Given the description of an element on the screen output the (x, y) to click on. 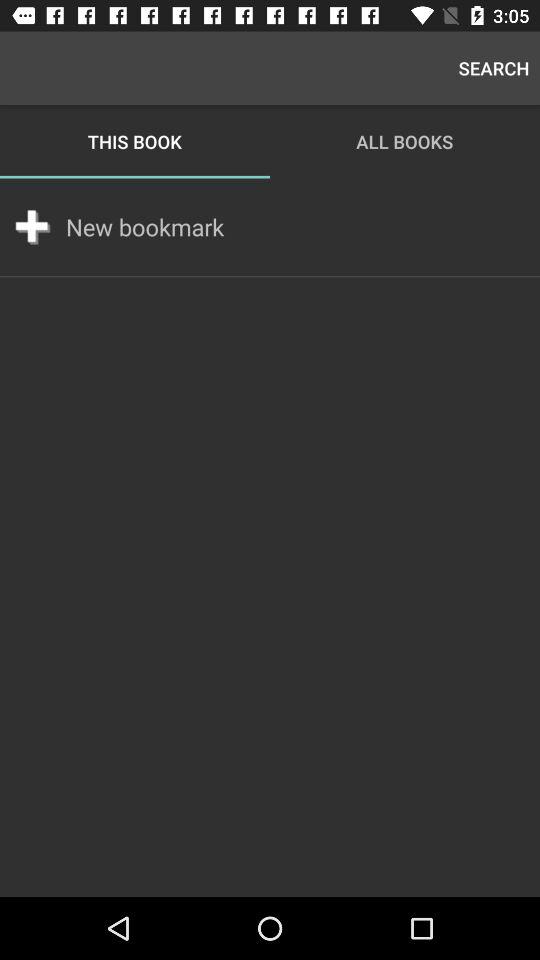
jump to the search (494, 67)
